Given the description of an element on the screen output the (x, y) to click on. 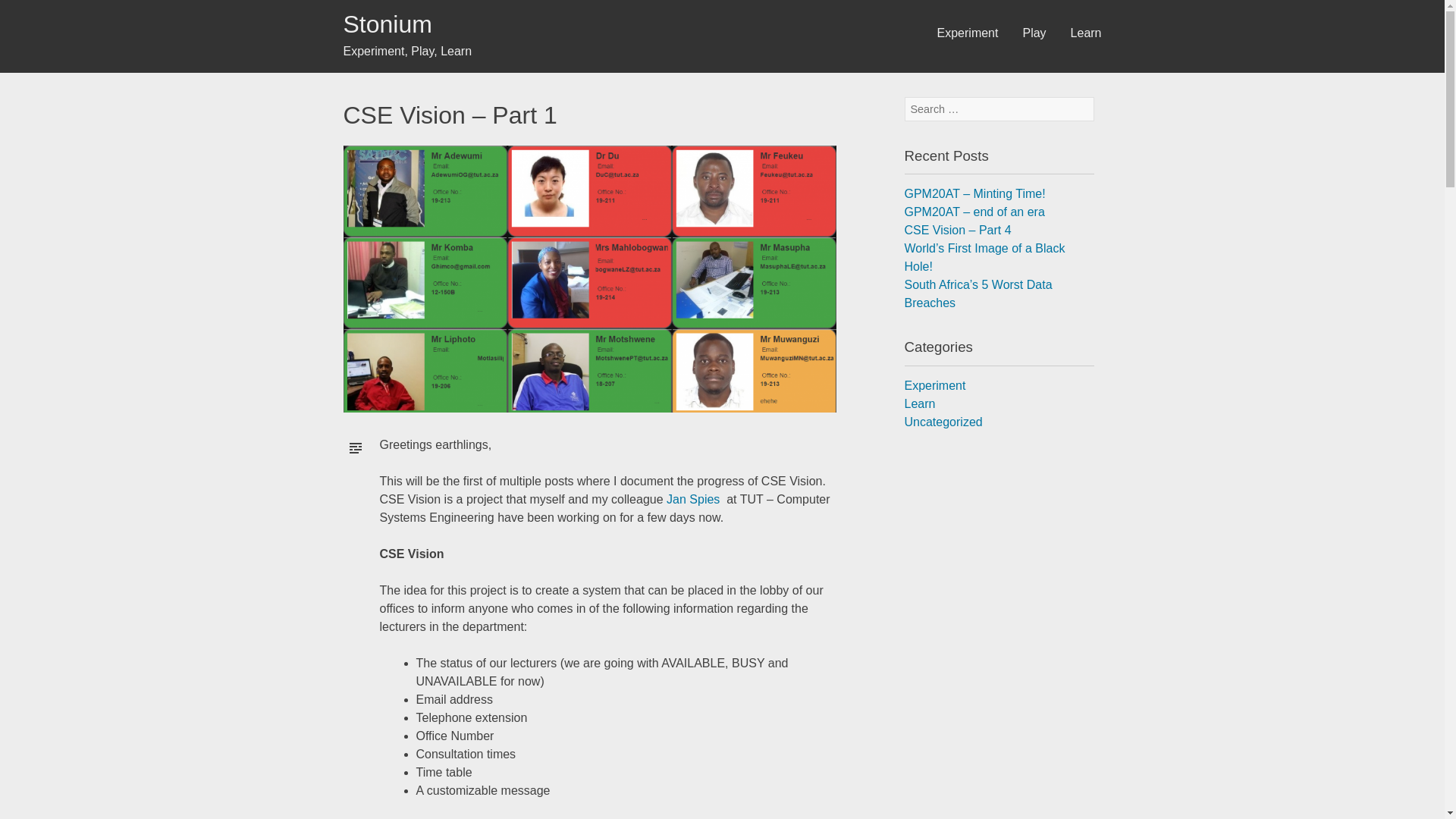
Search (31, 12)
Jan Spies (692, 499)
Learn (1086, 39)
Experiment (967, 39)
Stonium (386, 23)
